Given the description of an element on the screen output the (x, y) to click on. 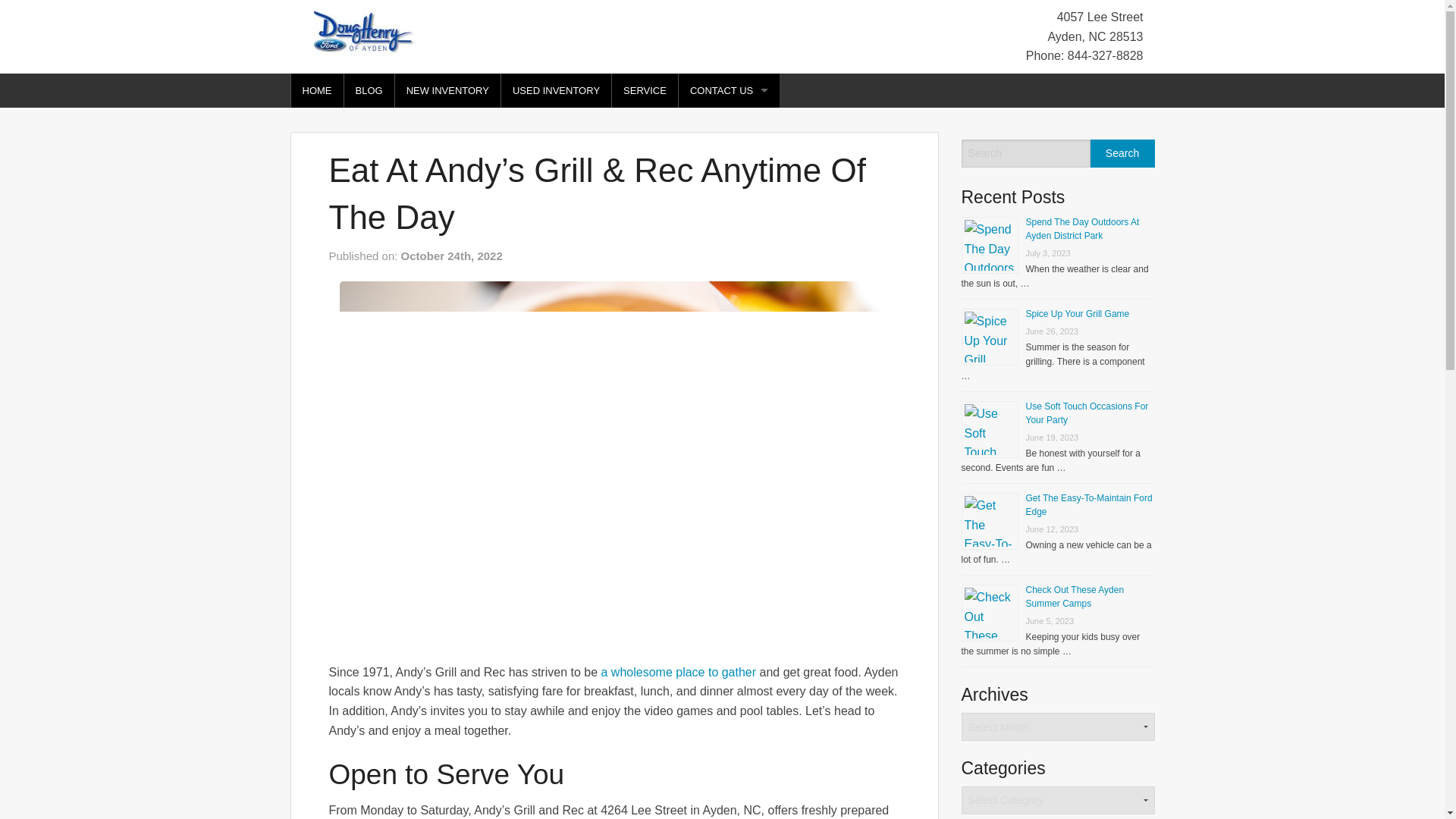
BLOG (368, 90)
USED INVENTORY (555, 90)
Use Soft Touch Occasions For Your Party (1086, 413)
Spice Up Your Grill Game (1077, 313)
Permalink to Spend The Day Outdoors At Ayden District Park (1081, 228)
Permalink to Get The Easy-To-Maintain Ford Edge (1088, 504)
a wholesome place to gather (679, 671)
Search (1122, 153)
Get The Easy-To-Maintain Ford Edge (1088, 504)
Permalink to Spice Up Your Grill Game (1077, 313)
